Given the description of an element on the screen output the (x, y) to click on. 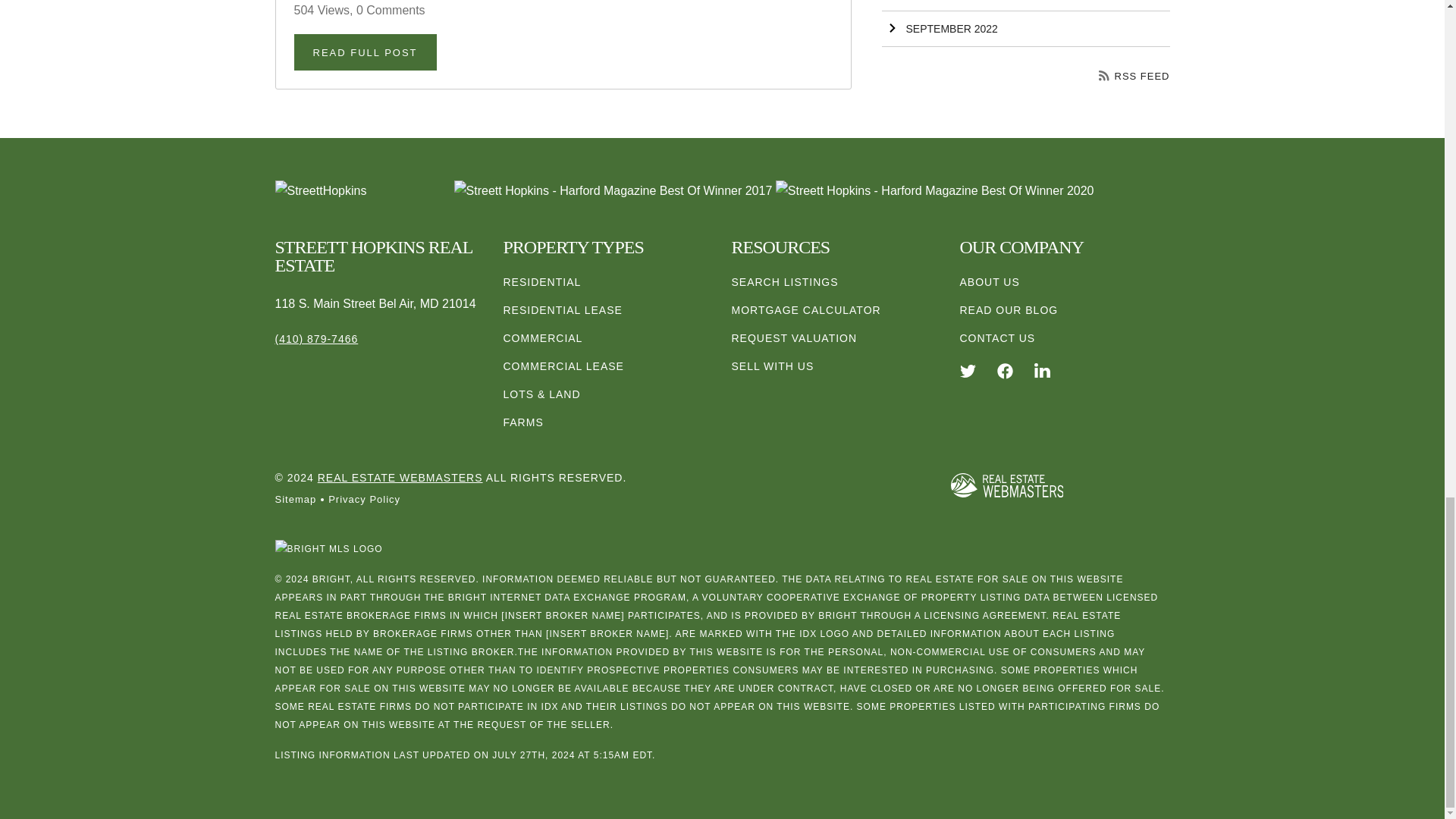
RSS FEED (1134, 75)
